Given the description of an element on the screen output the (x, y) to click on. 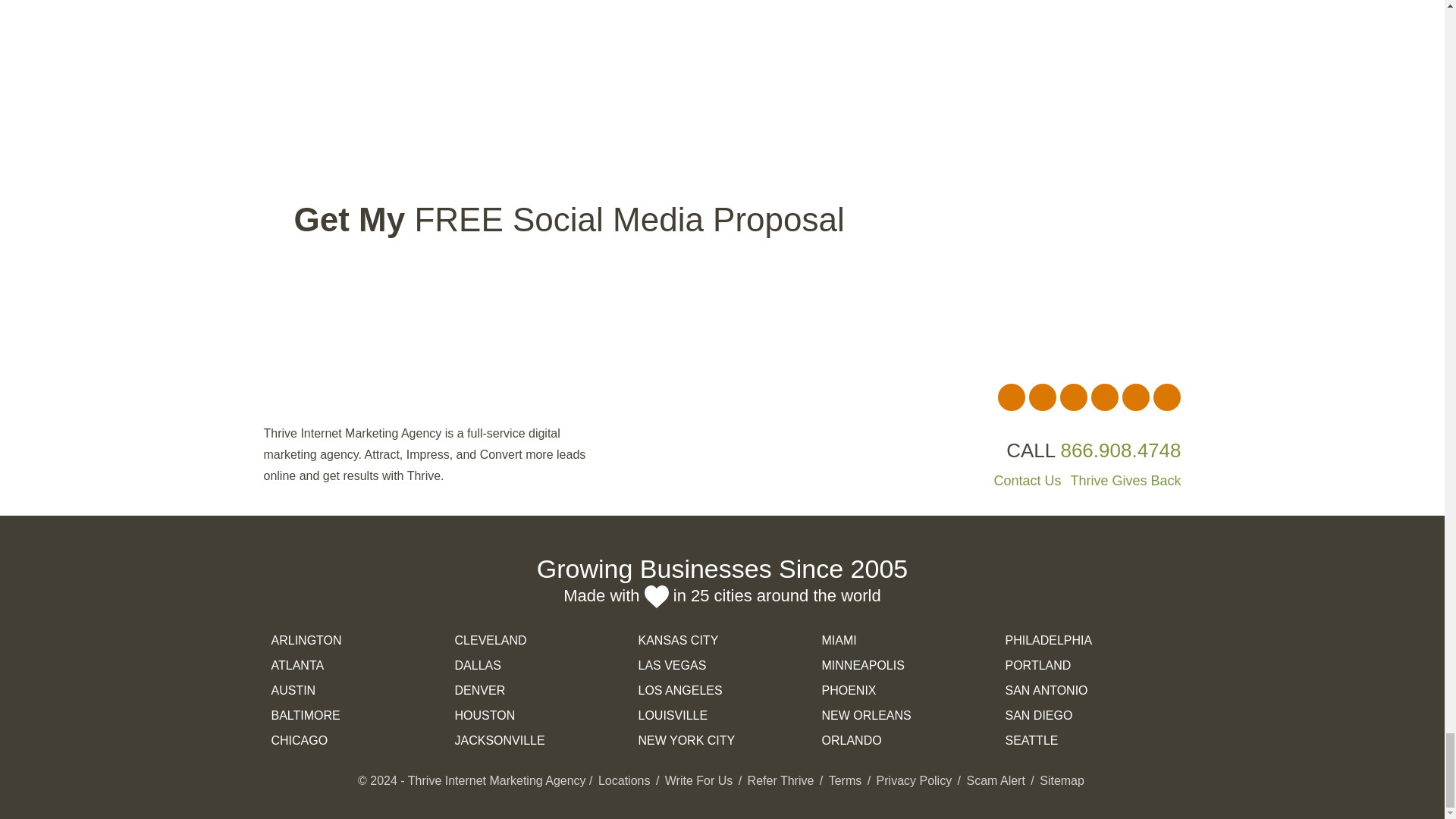
awardimage2020 (722, 9)
